Given the description of an element on the screen output the (x, y) to click on. 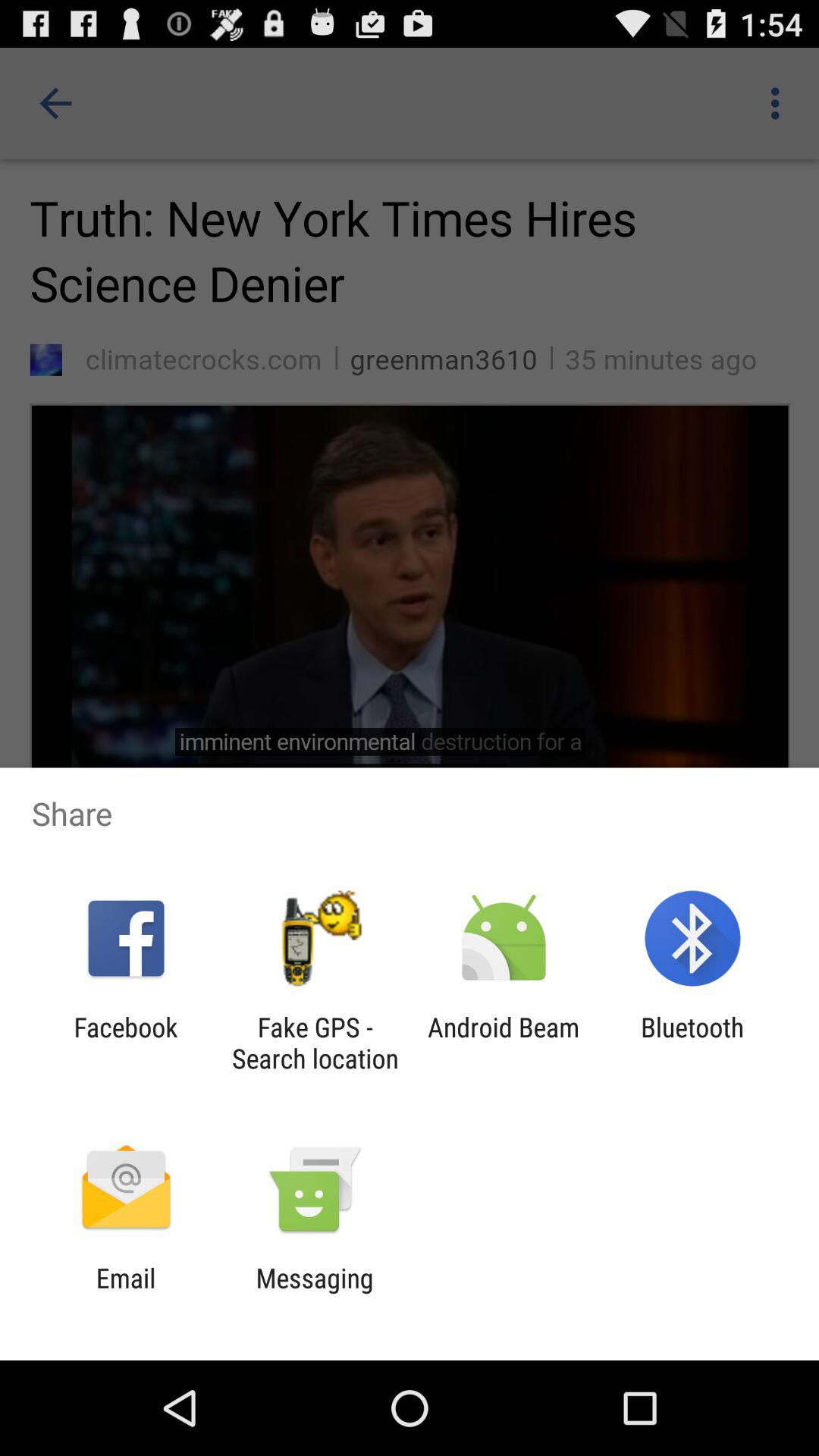
turn off item next to bluetooth app (503, 1042)
